Given the description of an element on the screen output the (x, y) to click on. 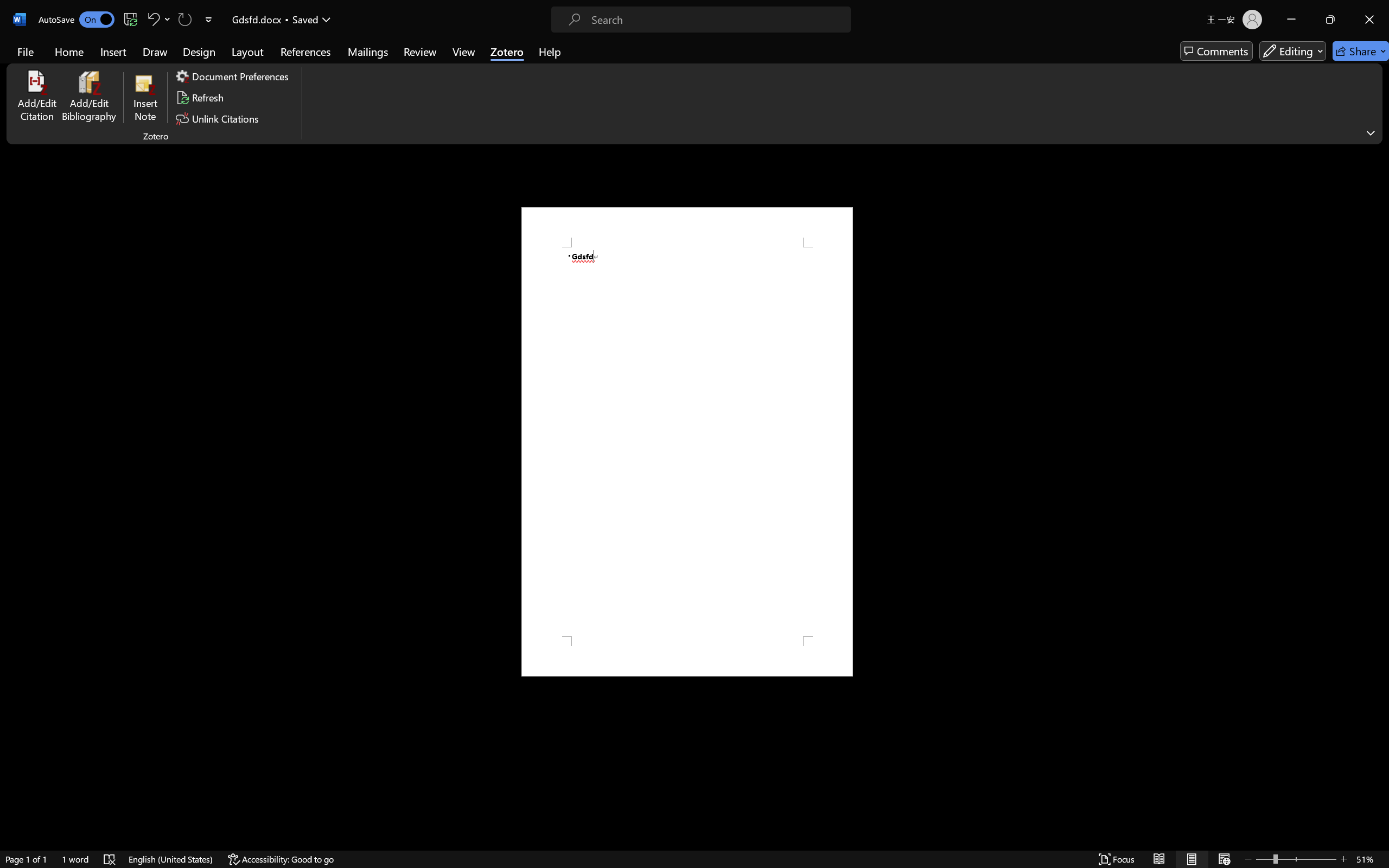
Page 1 content (686, 441)
